Given the description of an element on the screen output the (x, y) to click on. 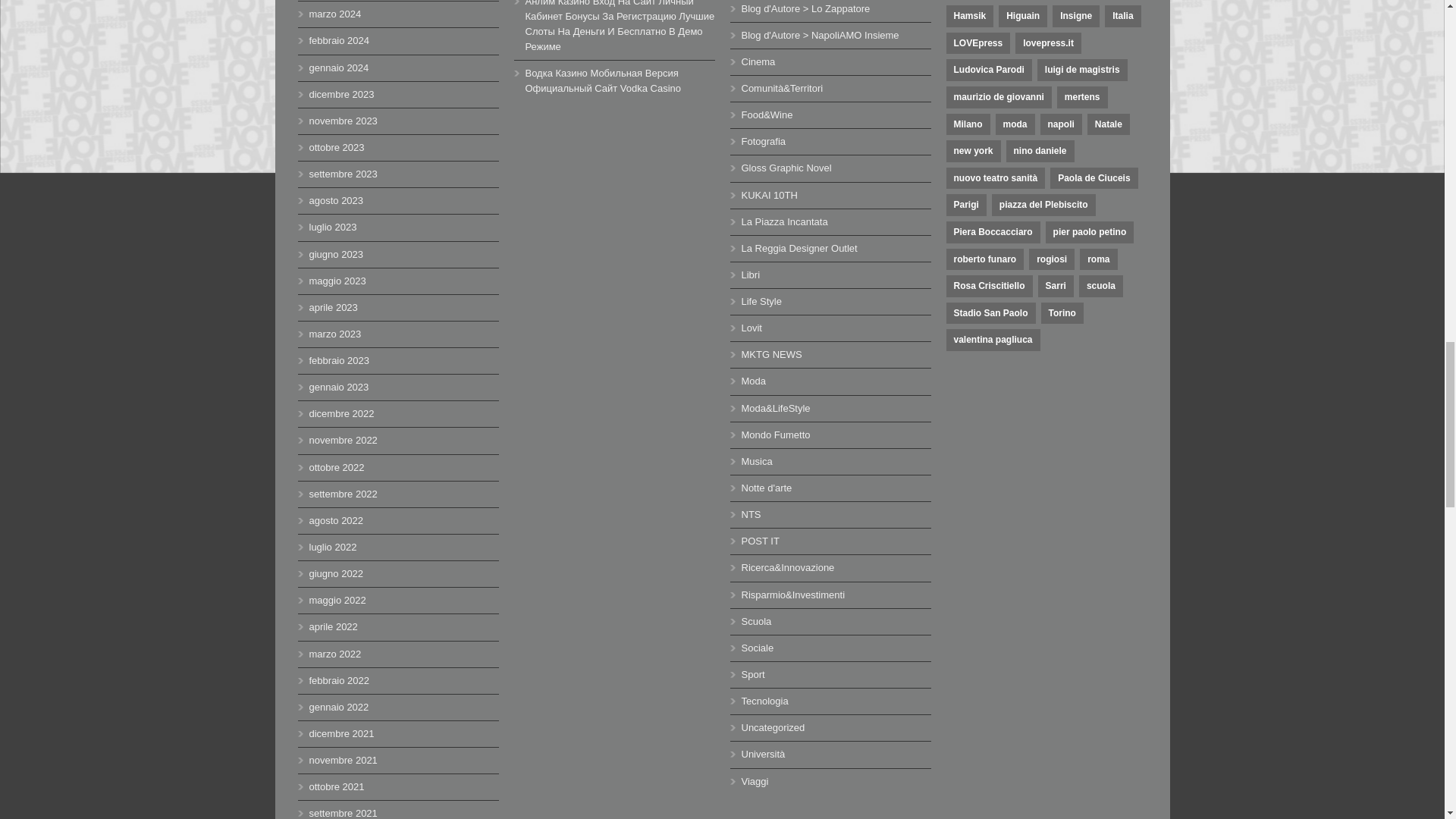
luglio 2023 (332, 226)
novembre 2023 (342, 120)
marzo 2024 (334, 13)
gennaio 2024 (338, 67)
giugno 2023 (336, 254)
dicembre 2023 (341, 93)
settembre 2023 (342, 173)
febbraio 2024 (338, 40)
agosto 2023 (336, 200)
ottobre 2023 (336, 147)
